Given the description of an element on the screen output the (x, y) to click on. 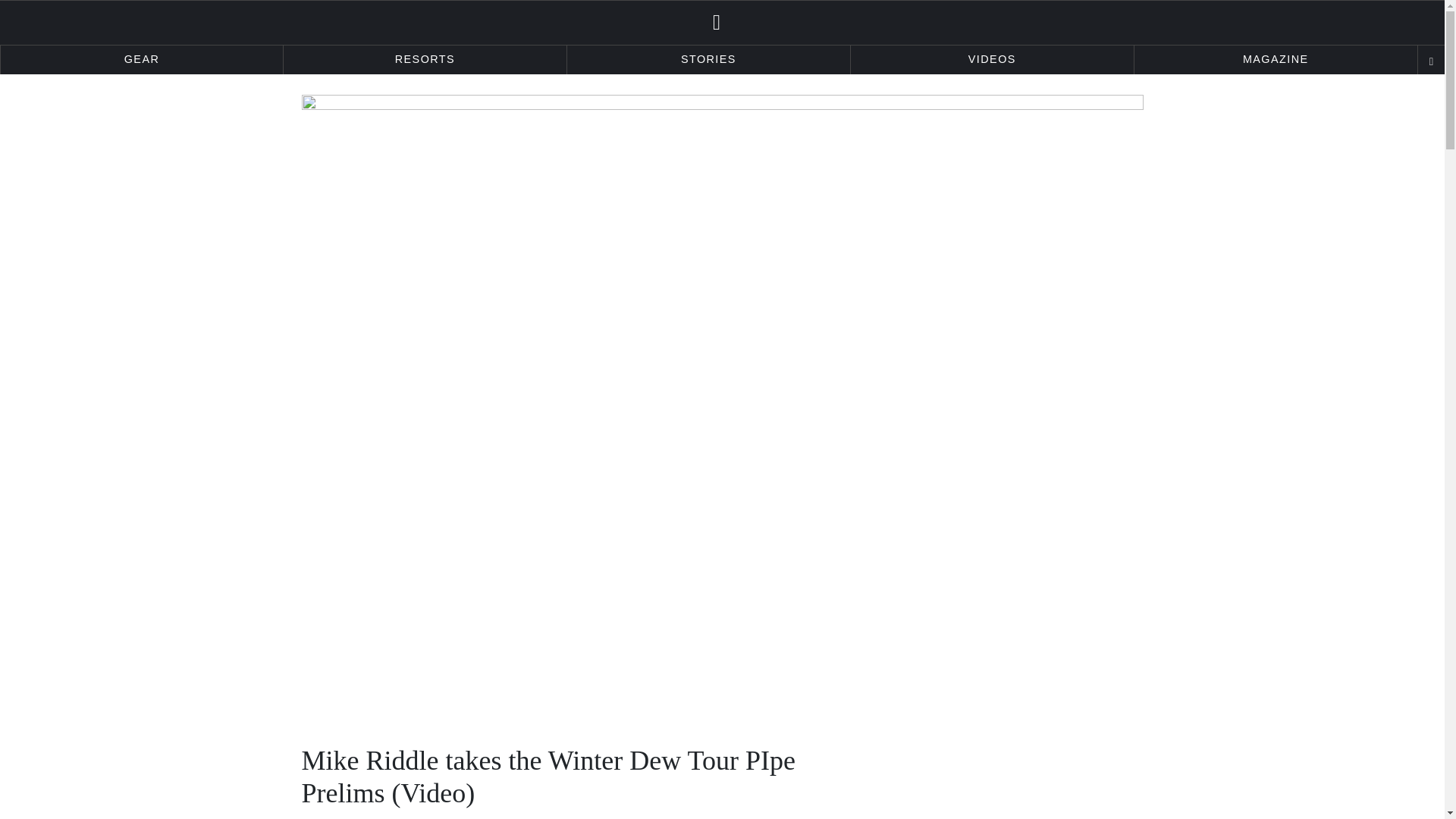
STORIES (708, 59)
GEAR (141, 59)
MAGAZINE (1275, 59)
3rd party ad content (1028, 781)
MAGAZINE (1275, 59)
GEAR (141, 59)
VIDEOS (992, 59)
STORIES (708, 59)
RESORTS (424, 59)
VIDEOS (992, 59)
3rd party ad content (721, 672)
RESORTS (424, 59)
